Given the description of an element on the screen output the (x, y) to click on. 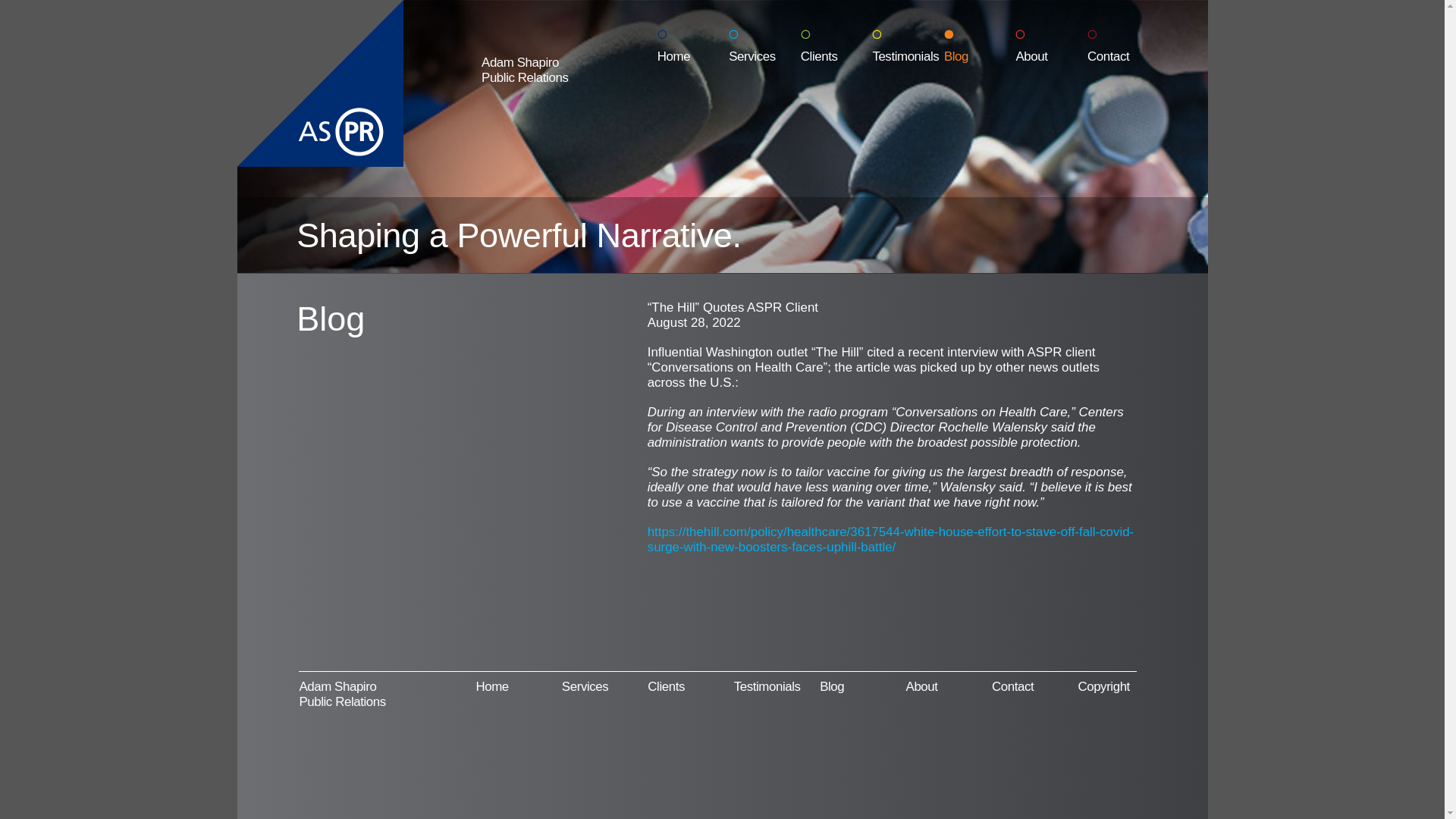
Clients Element type: text (836, 46)
Clients Element type: text (665, 686)
Blog Element type: text (831, 686)
Contact Element type: text (1012, 686)
Testimonials Element type: text (767, 686)
About Element type: text (922, 686)
Services Element type: text (764, 46)
Home Element type: text (491, 686)
Blog Element type: text (980, 46)
About Element type: text (1051, 46)
Adam Shapiro
Public Relations Element type: text (557, 69)
Contact Element type: text (1123, 46)
Copyright Element type: text (1103, 686)
Home Element type: text (693, 46)
Services Element type: text (584, 686)
Testimonials Element type: text (908, 46)
